Given the description of an element on the screen output the (x, y) to click on. 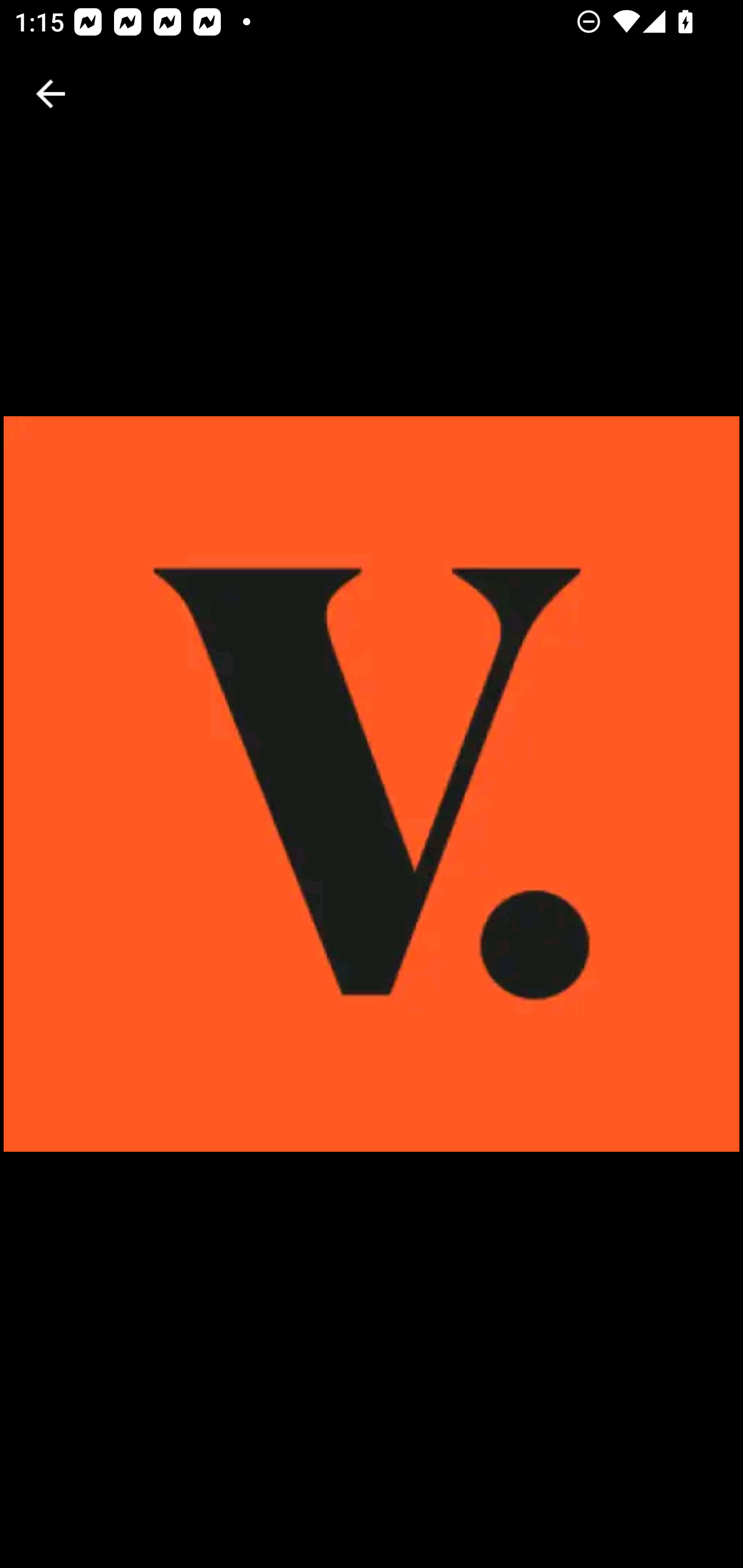
Back (50, 93)
